Given the description of an element on the screen output the (x, y) to click on. 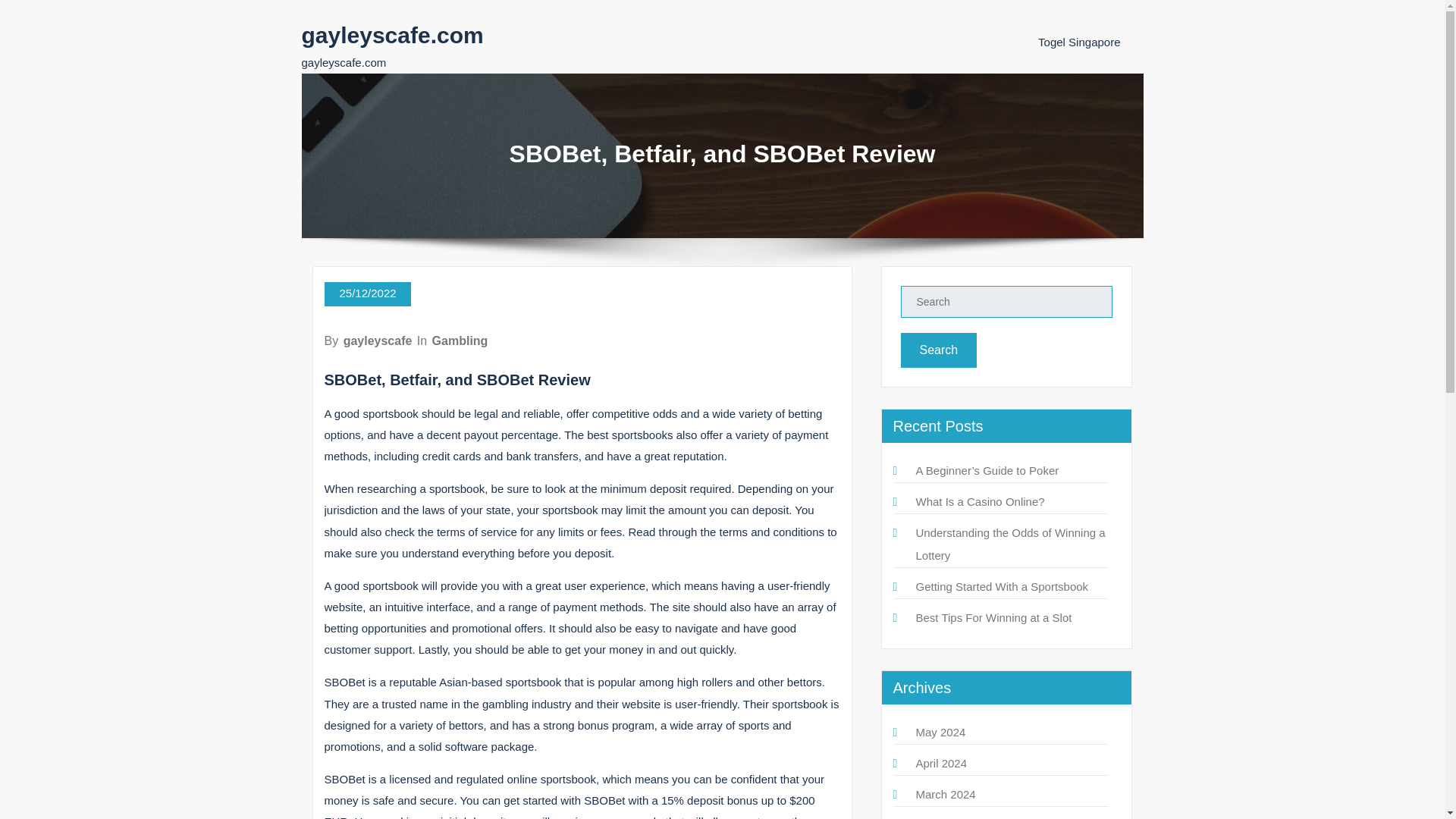
Togel Singapore (1078, 41)
gayleyscafe.com (392, 34)
gayleyscafe (377, 340)
April 2024 (941, 762)
Getting Started With a Sportsbook (1002, 585)
March 2024 (945, 793)
Understanding the Odds of Winning a Lottery (1010, 543)
May 2024 (940, 731)
What Is a Casino Online? (980, 501)
Best Tips For Winning at a Slot (993, 617)
